Given the description of an element on the screen output the (x, y) to click on. 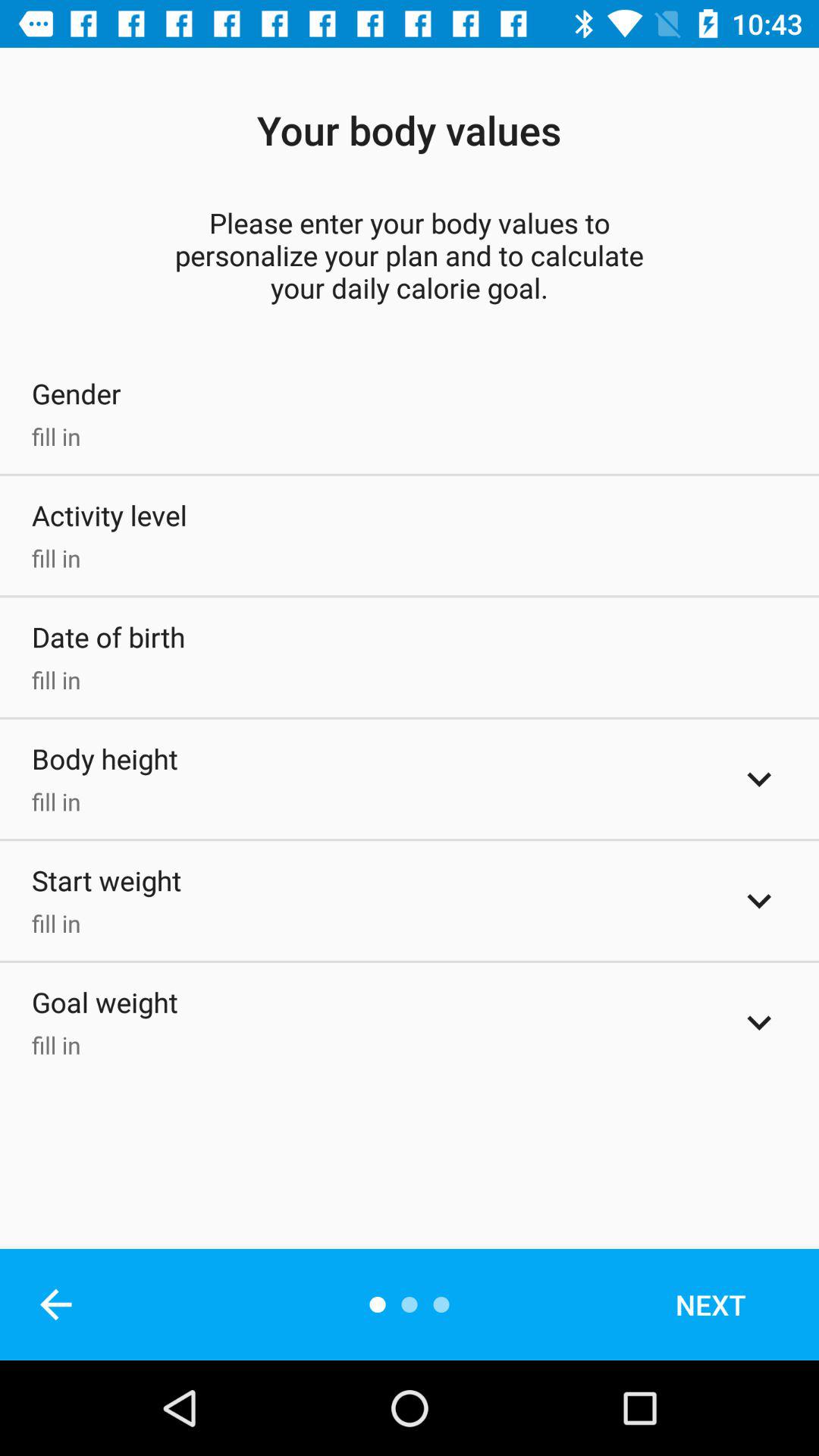
enter the wight at the start of the activity (759, 900)
